Given the description of an element on the screen output the (x, y) to click on. 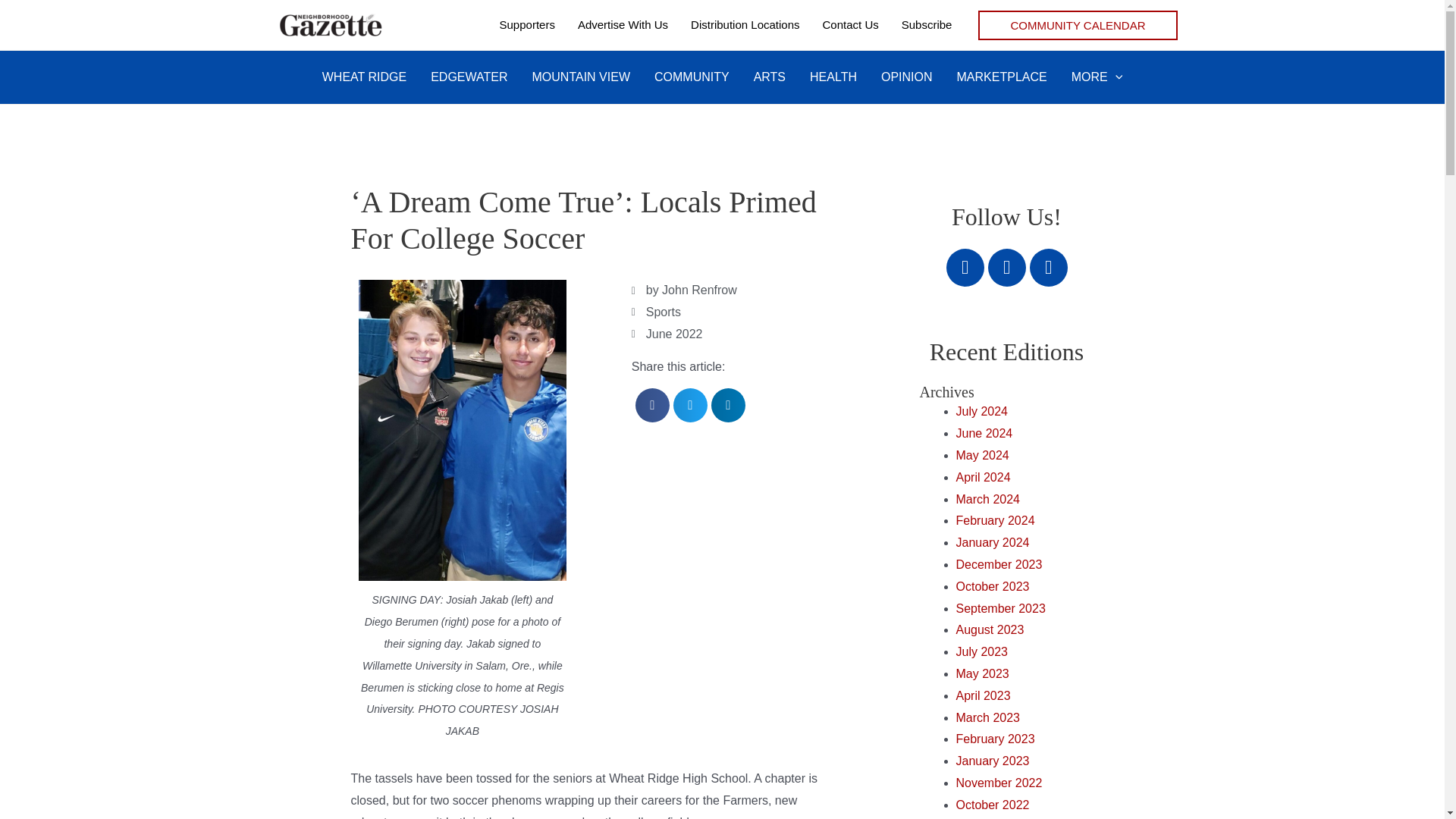
July 2024 (981, 410)
MARKETPLACE (1001, 77)
Twitter (1006, 267)
Facebook (965, 267)
Sports (663, 311)
Distribution Locations (744, 24)
April 2024 (982, 477)
Advertise With Us (622, 24)
MOUNTAIN VIEW (580, 77)
June 2022 (674, 333)
